Given the description of an element on the screen output the (x, y) to click on. 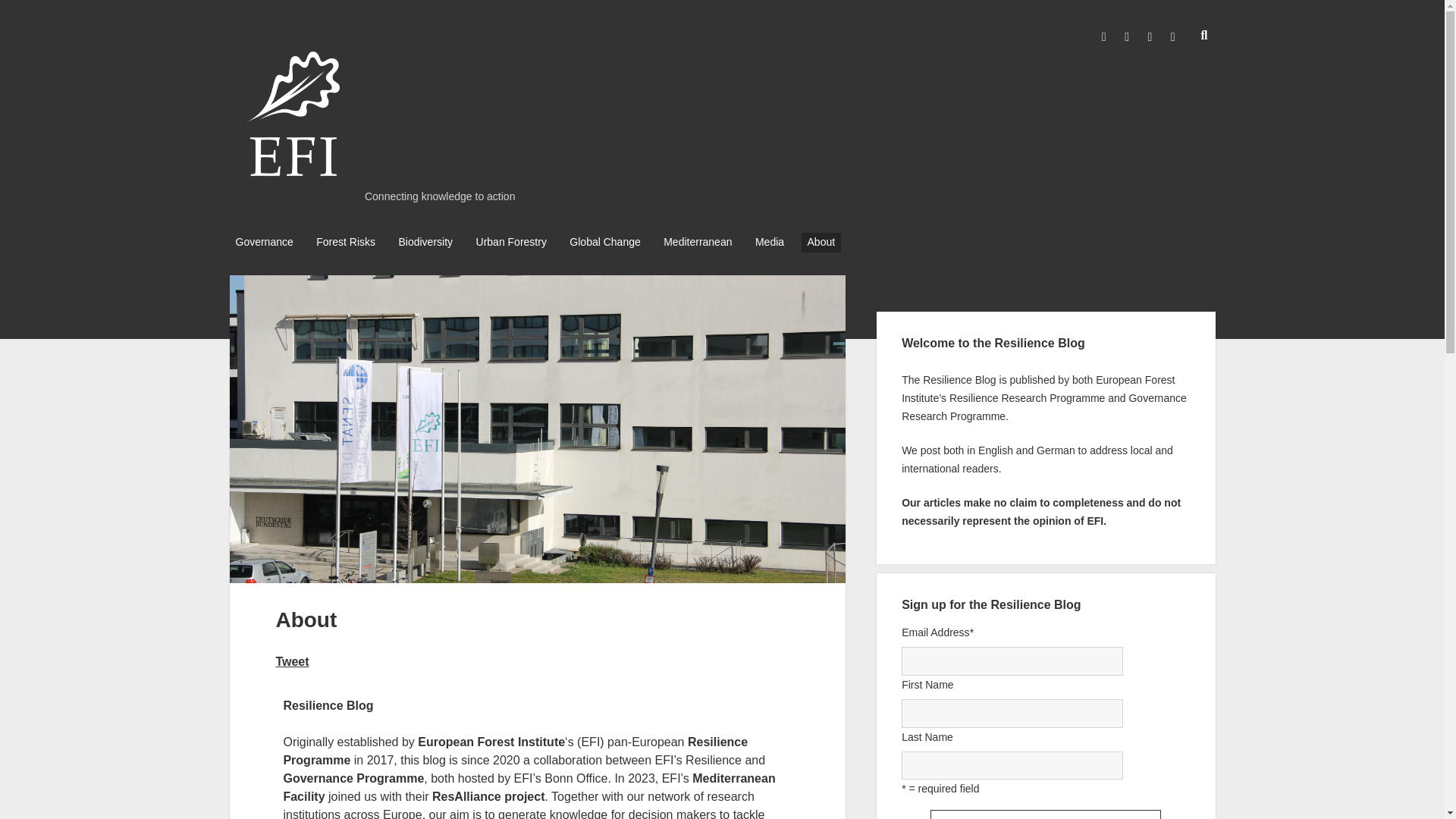
About (821, 242)
Governance Programme (352, 778)
Biodiversity (424, 242)
Mediterranean Facility (528, 787)
Resilience Research Programme (1027, 398)
Governance (263, 242)
ResAlliance project (488, 796)
Resilience Programme (515, 750)
Subscribe (1045, 814)
Forest Risks (345, 242)
